Given the description of an element on the screen output the (x, y) to click on. 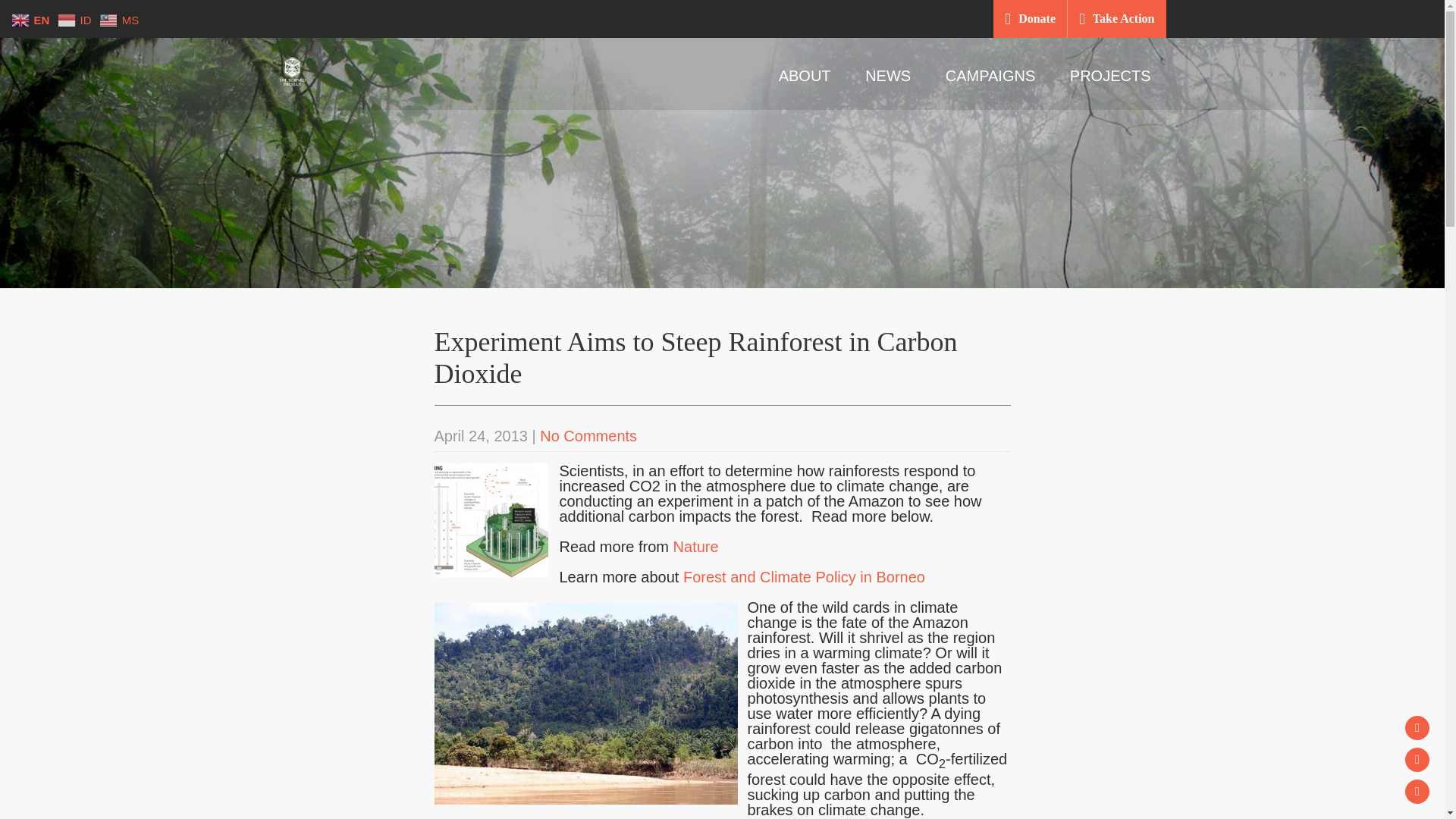
No Comments (588, 435)
Bahasa Indonesia (77, 18)
Take Action (1123, 18)
Facebook (1417, 727)
Twitter (1417, 791)
Instagram (1417, 759)
Donate (1036, 18)
PROJECTS (1110, 75)
English (31, 18)
